Given the description of an element on the screen output the (x, y) to click on. 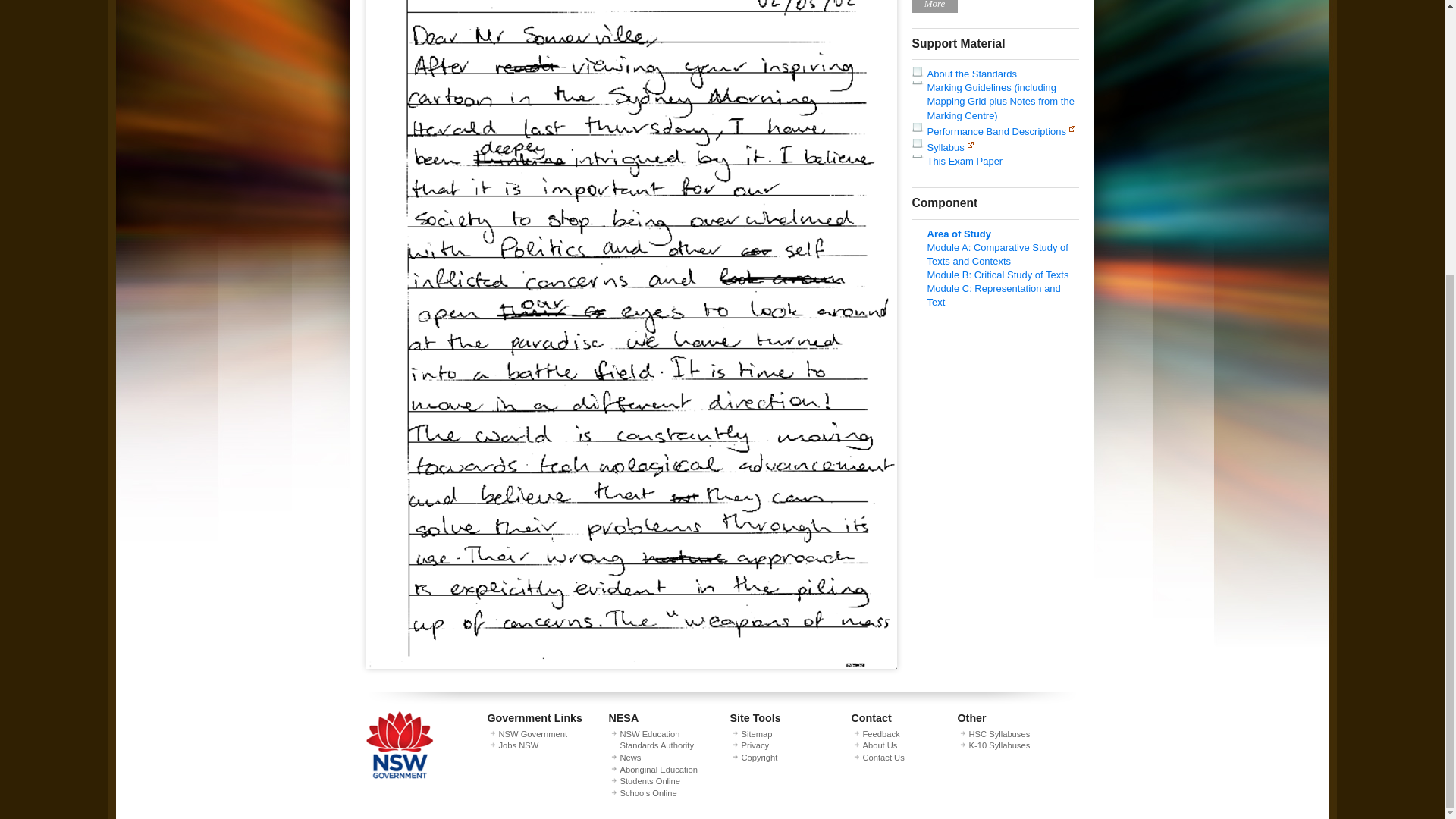
Syllabus (944, 147)
Page 1 (630, 665)
Module B: Critical Study of Texts (997, 274)
Module C: Representation and Text (992, 294)
About the Standards (971, 73)
Area of Study (958, 233)
Performance Band Descriptions (995, 131)
Module A: Comparative Study of Texts and Contexts (996, 253)
This Exam Paper (964, 161)
